Given the description of an element on the screen output the (x, y) to click on. 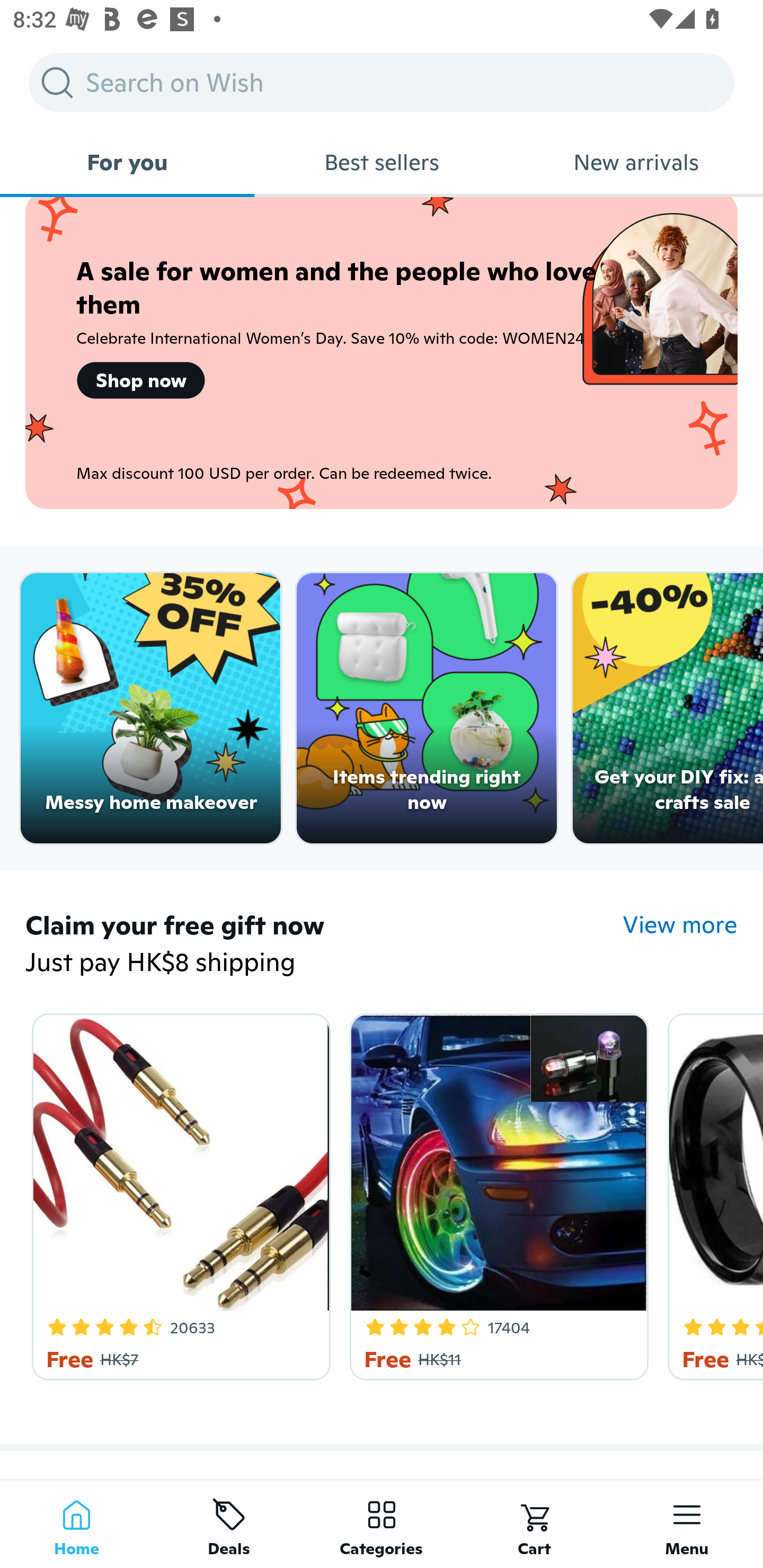
Search on Wish (381, 82)
For you (127, 161)
Best sellers (381, 161)
New arrivals (635, 161)
Messy home makeover (150, 708)
Items trending right now (426, 708)
Get your DIY fix: arts & crafts sale (668, 708)
Claim your free gift now
Just pay HK$8 shipping (323, 944)
View more (679, 923)
4.3 Star Rating 20633 Free HK$7 (177, 1192)
3.8 Star Rating 17404 Free HK$11 (495, 1192)
Home (76, 1523)
Deals (228, 1523)
Categories (381, 1523)
Cart (533, 1523)
Menu (686, 1523)
